Given the description of an element on the screen output the (x, y) to click on. 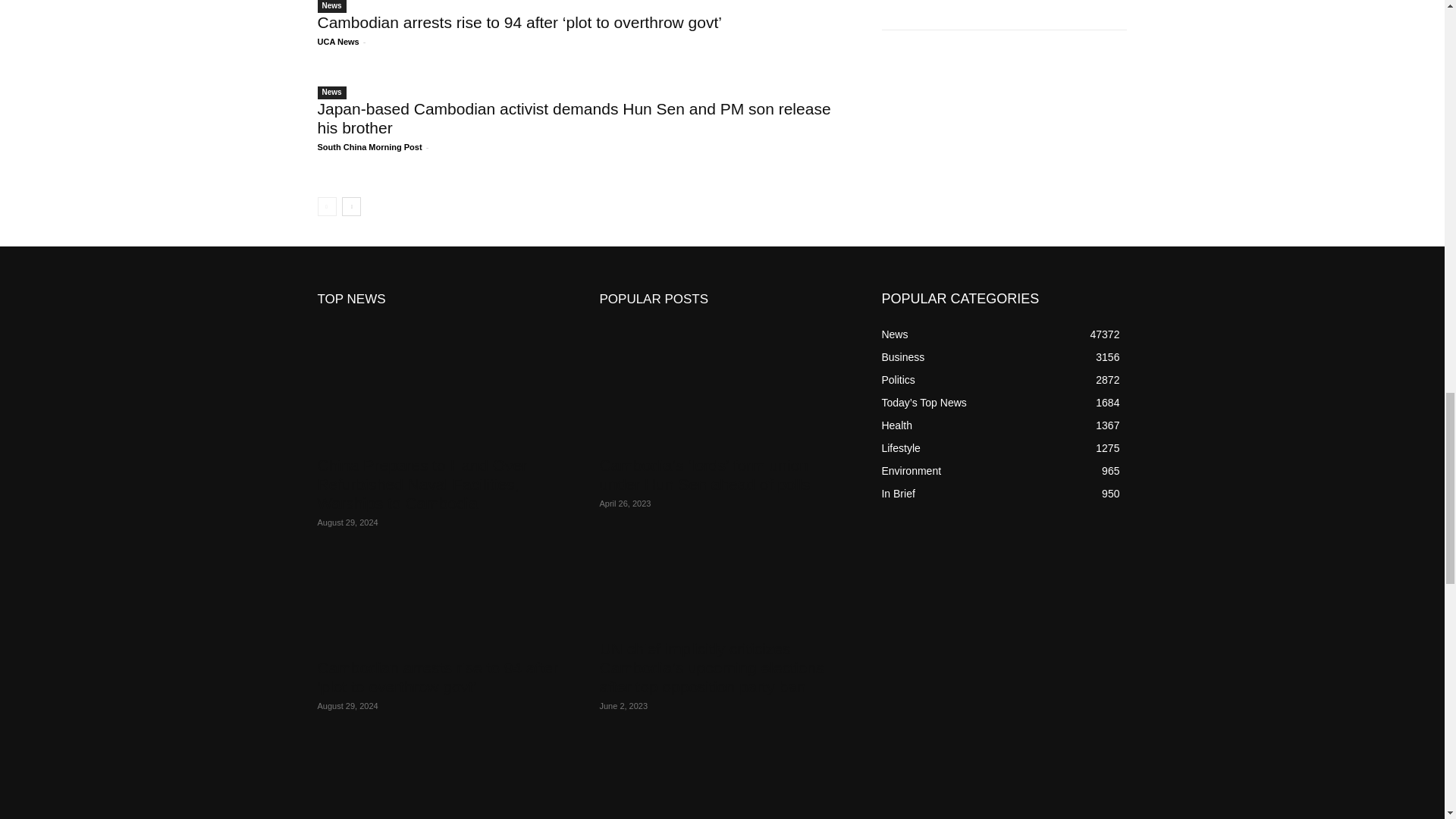
News (331, 6)
UCA News (337, 40)
